Given the description of an element on the screen output the (x, y) to click on. 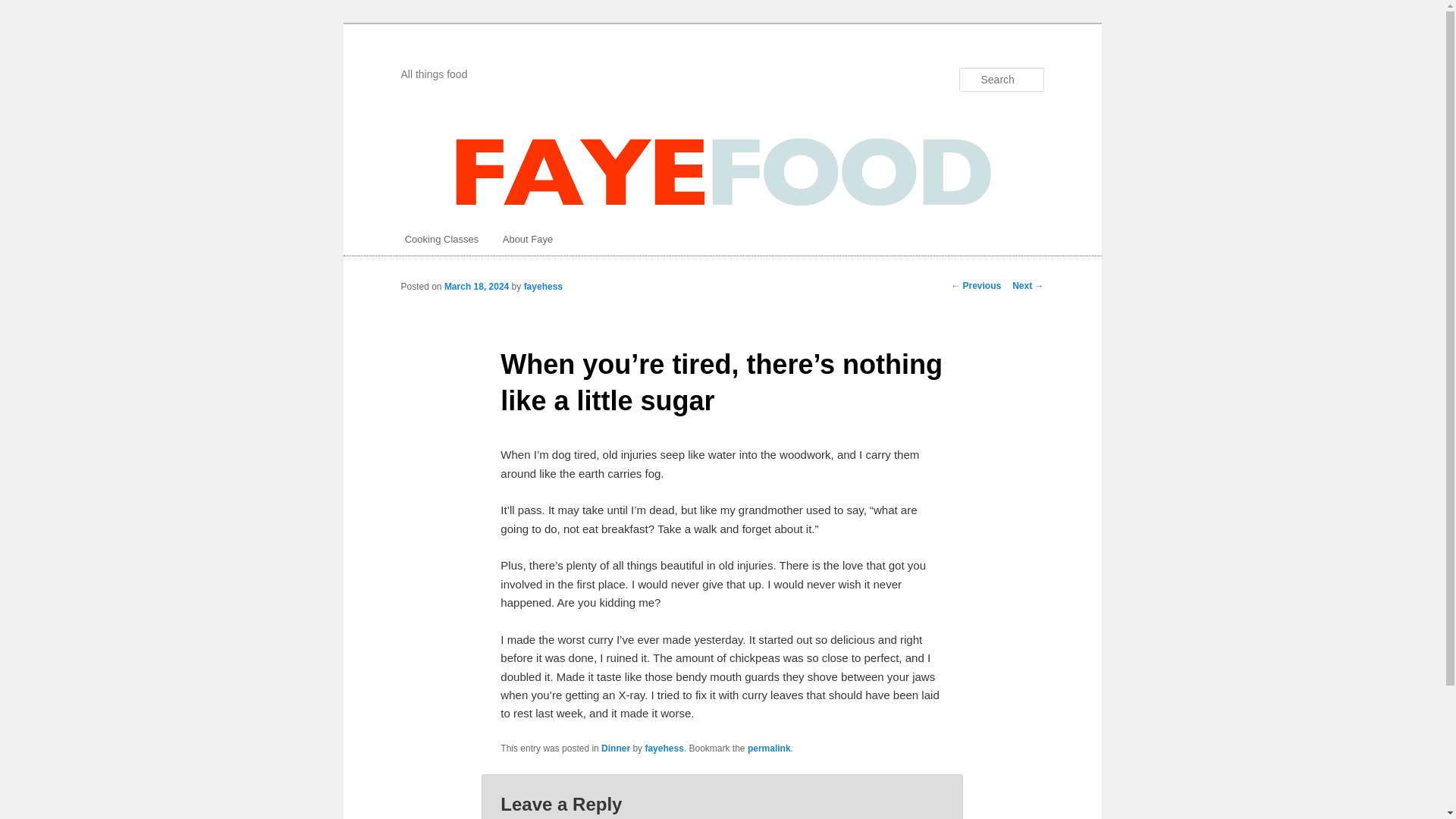
About Faye (527, 238)
Skip to primary content (80, 31)
Search (24, 8)
March 18, 2024 (476, 286)
Cooking Classes (441, 238)
View all posts by fayehess (543, 286)
Dinner (615, 747)
fayehess (663, 747)
fayehess (543, 286)
permalink (769, 747)
